Given the description of an element on the screen output the (x, y) to click on. 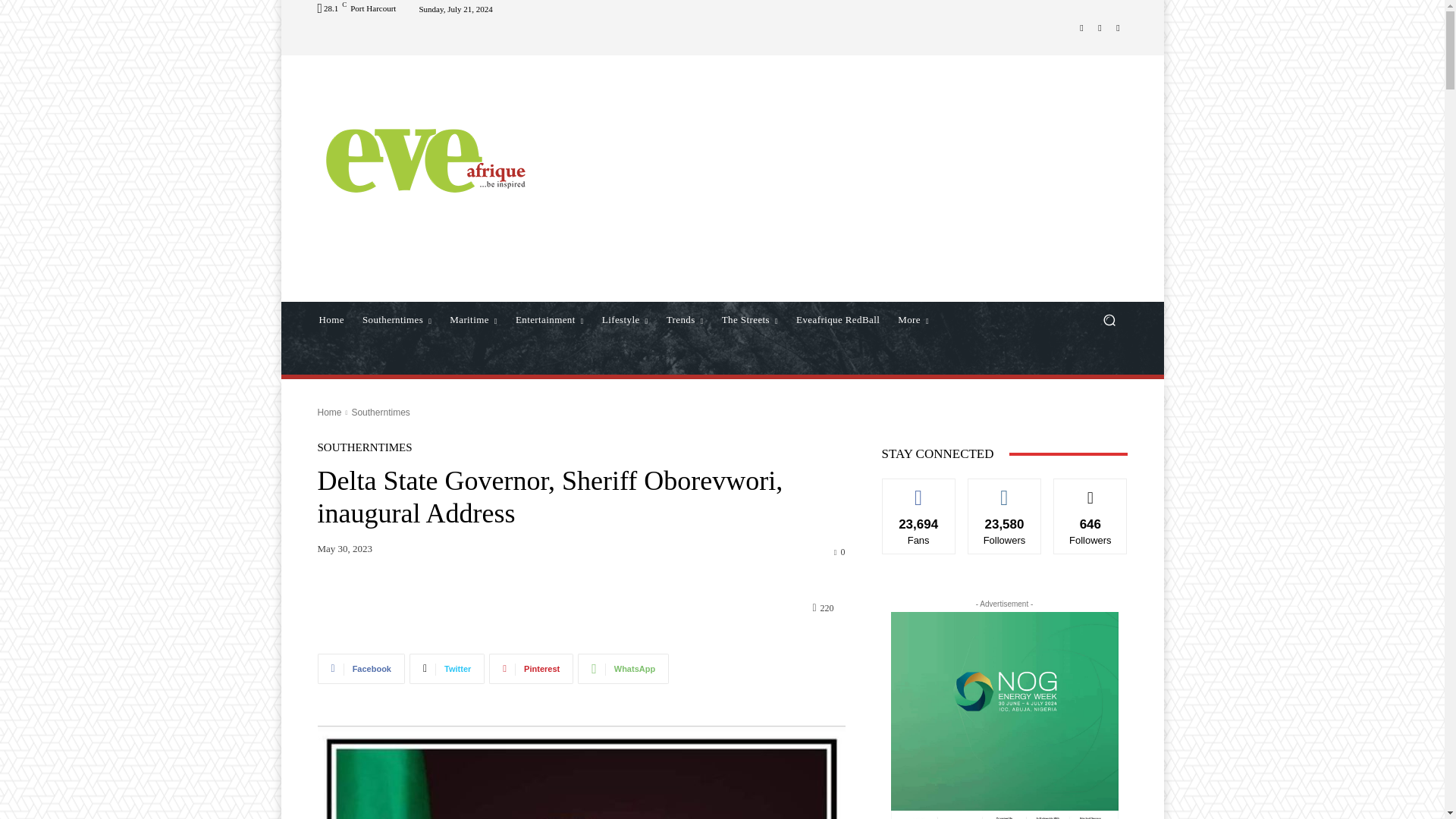
Twitter (1117, 27)
Home (330, 320)
Maritime (473, 320)
Advertisement (848, 180)
Instagram (1099, 27)
Southerntimes (397, 320)
Facebook (1080, 27)
